Given the description of an element on the screen output the (x, y) to click on. 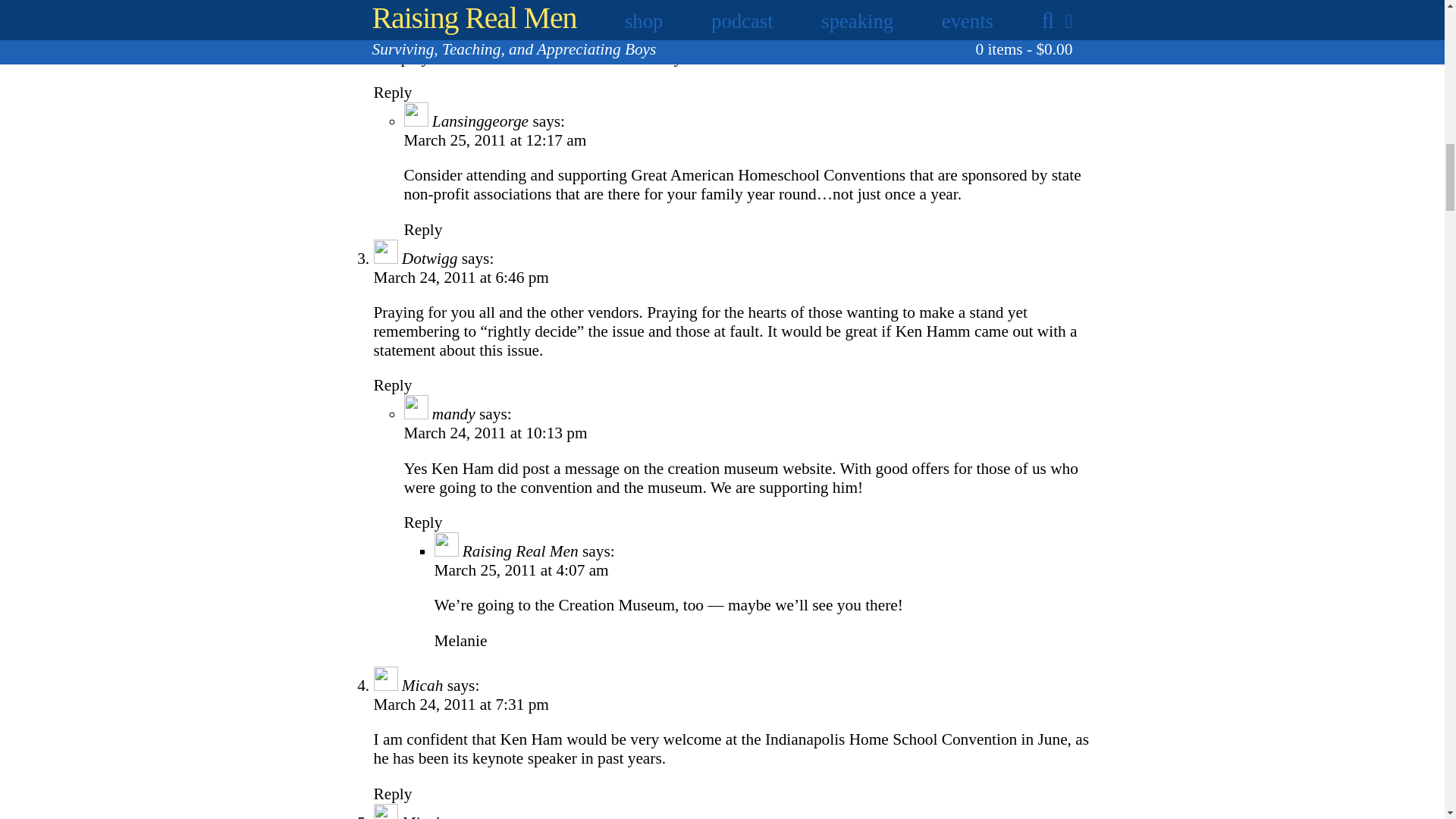
March 25, 2011 at 4:07 am (520, 570)
March 24, 2011 at 6:43 pm (460, 6)
Reply (392, 793)
Reply (422, 522)
Reply (392, 384)
March 24, 2011 at 7:31 pm (460, 704)
Raising Real Men (520, 551)
March 25, 2011 at 12:17 am (494, 140)
Reply (422, 229)
Reply (392, 92)
March 24, 2011 at 10:13 pm (494, 433)
March 24, 2011 at 6:46 pm (460, 277)
